Given the description of an element on the screen output the (x, y) to click on. 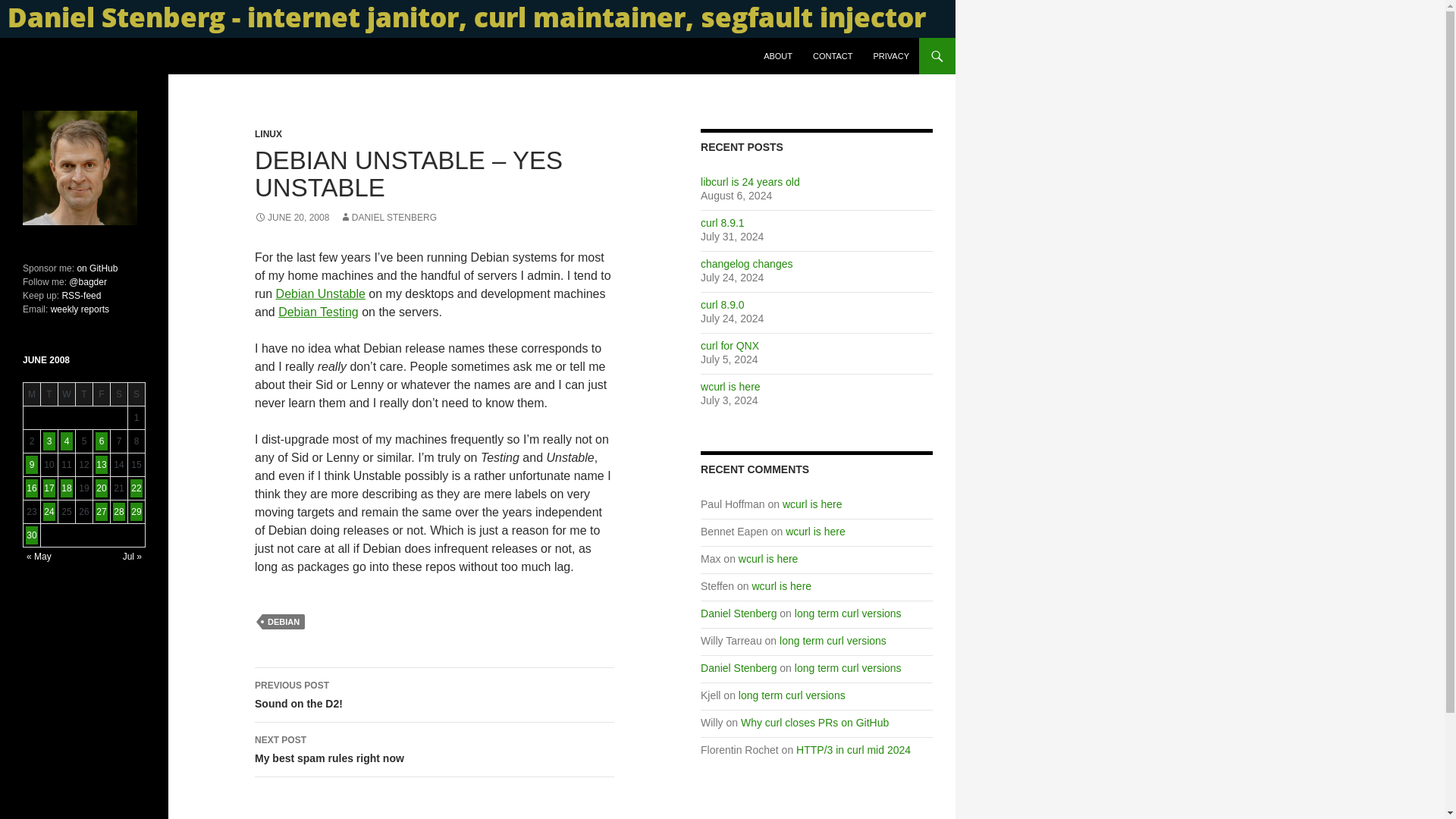
RSS-feed (80, 295)
long term curl versions (791, 695)
ABOUT (778, 55)
daniel.haxx.se (69, 55)
curl 8.9.1 (722, 223)
changelog changes (434, 695)
long term curl versions (746, 263)
long term curl versions (832, 640)
